Given the description of an element on the screen output the (x, y) to click on. 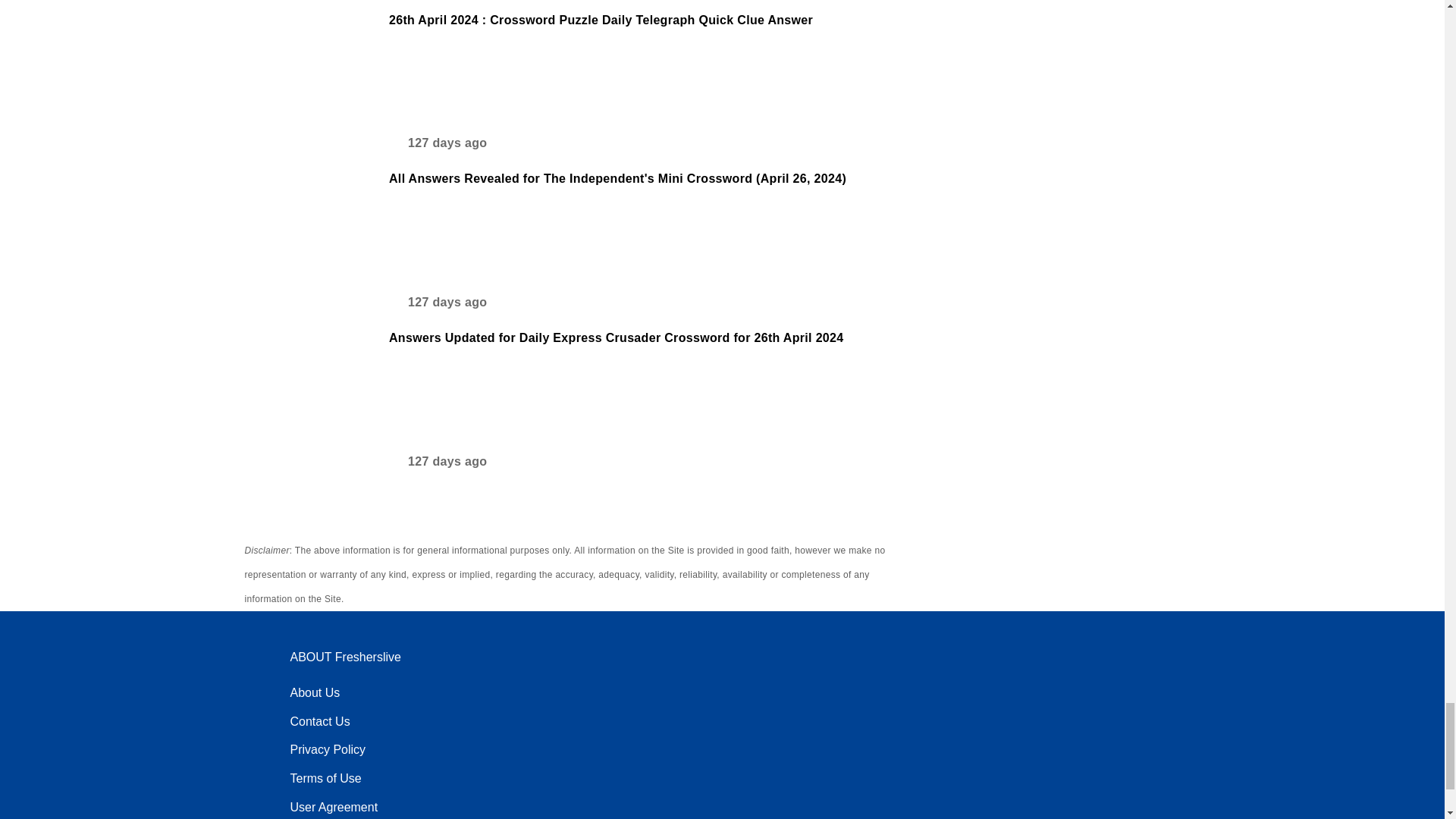
About Us (314, 693)
127 days ago (437, 465)
127 days ago (437, 306)
127 days ago (437, 147)
